Given the description of an element on the screen output the (x, y) to click on. 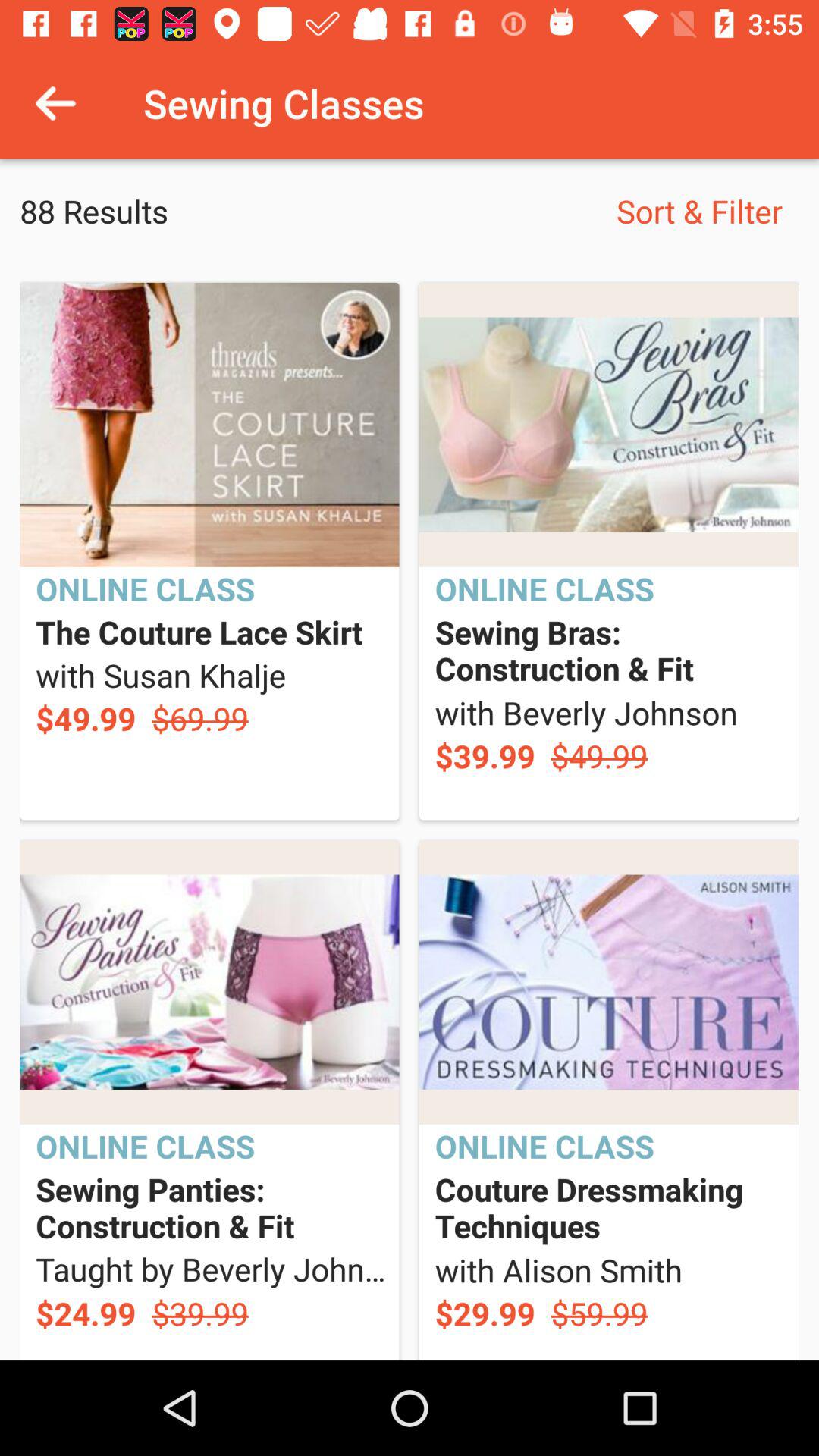
choose the icon to the left of the sewing classes icon (55, 103)
